Given the description of an element on the screen output the (x, y) to click on. 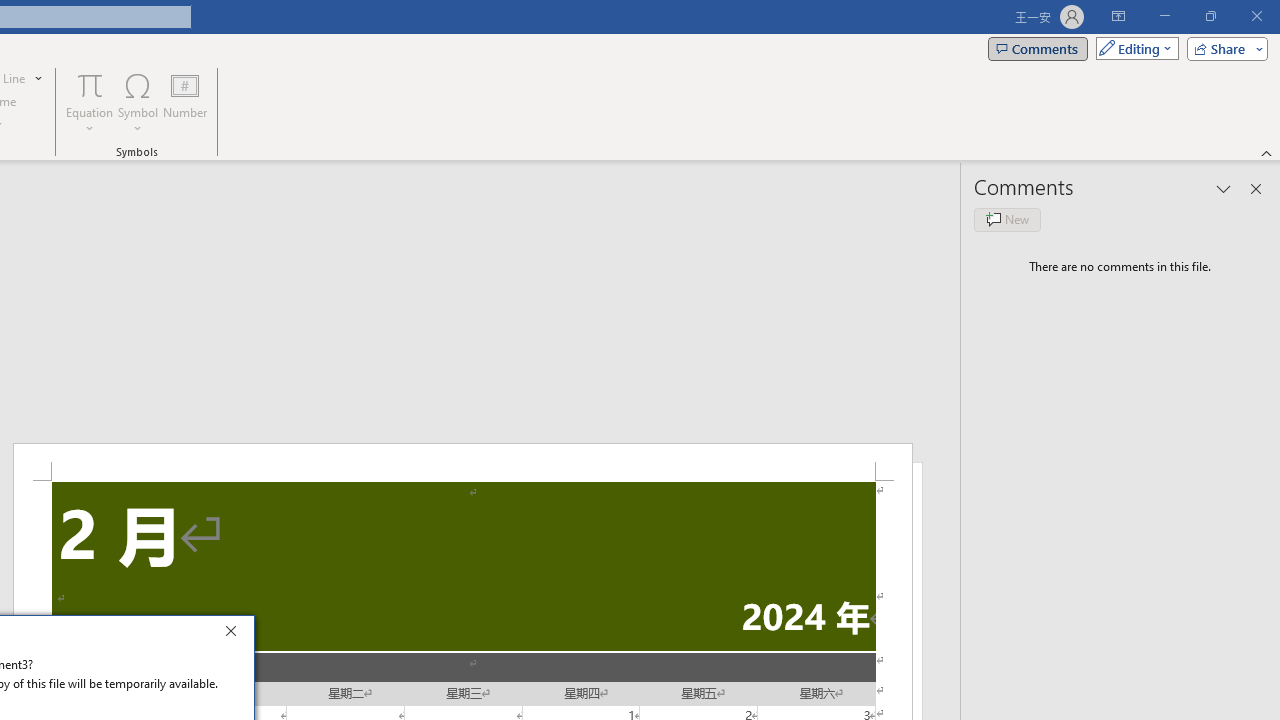
New comment (1007, 219)
Symbol (138, 102)
Minimize (1164, 16)
Header -Section 2- (462, 461)
